Given the description of an element on the screen output the (x, y) to click on. 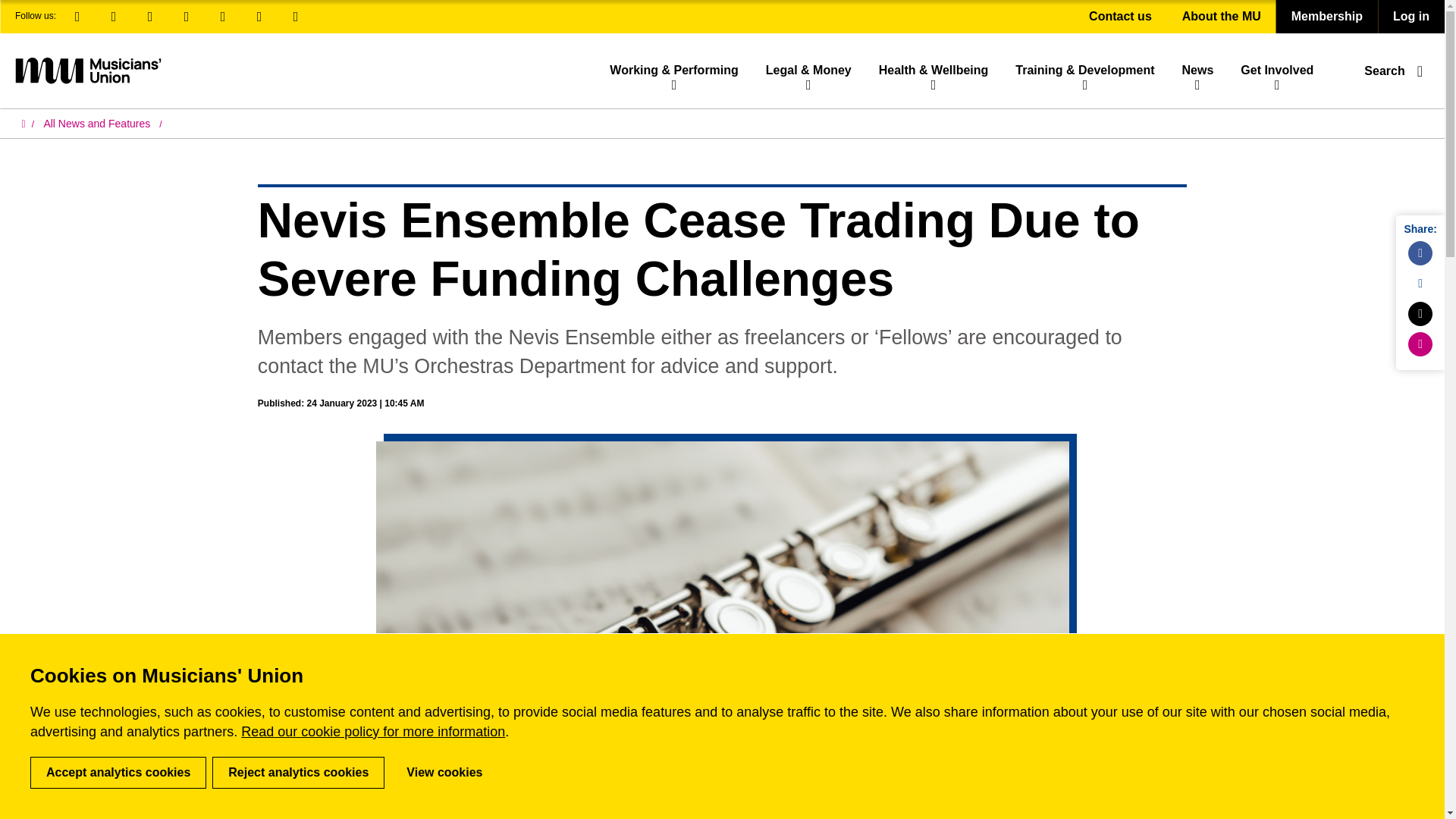
Get Involved (1276, 69)
Accept analytics cookies (118, 772)
Home (27, 123)
Reject analytics cookies (298, 772)
Read our cookie policy for more information (373, 731)
X (150, 16)
Share on Facebook (1419, 252)
The Musicians' Union (87, 70)
Membership (1326, 16)
Share on LinkedIn (1419, 283)
News (1197, 69)
Reject analytics cookies (298, 772)
LinkedIn (114, 16)
Log in (1410, 16)
Instagram (186, 16)
